Given the description of an element on the screen output the (x, y) to click on. 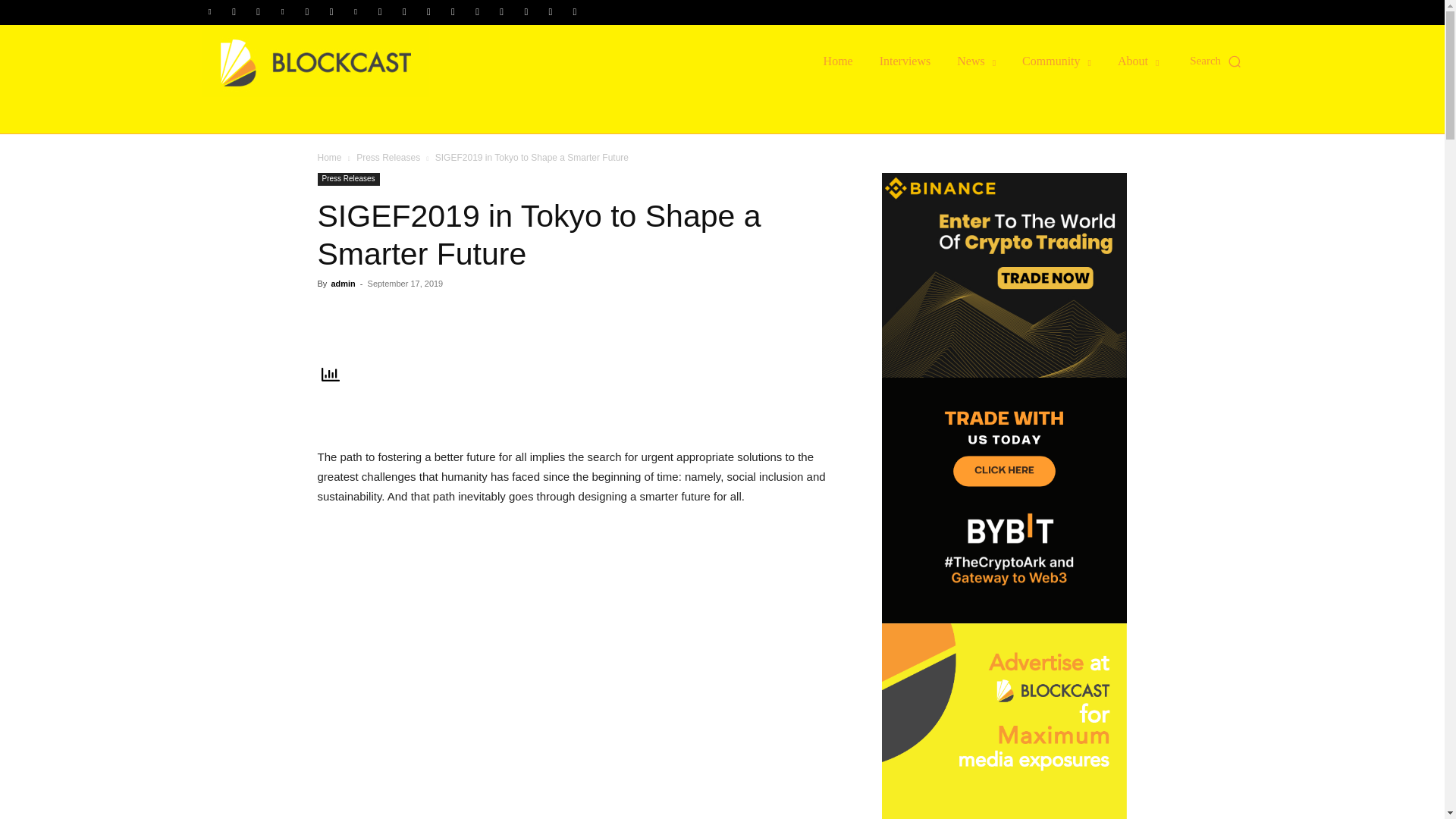
Telegram (428, 12)
Instagram (258, 12)
Mail (306, 12)
Blogger (210, 12)
Facebook (234, 12)
Naver (331, 12)
Reddit (379, 12)
Pinterest (355, 12)
Twitter (477, 12)
RSS (404, 12)
Linkedin (283, 12)
Tumblr (452, 12)
